Given the description of an element on the screen output the (x, y) to click on. 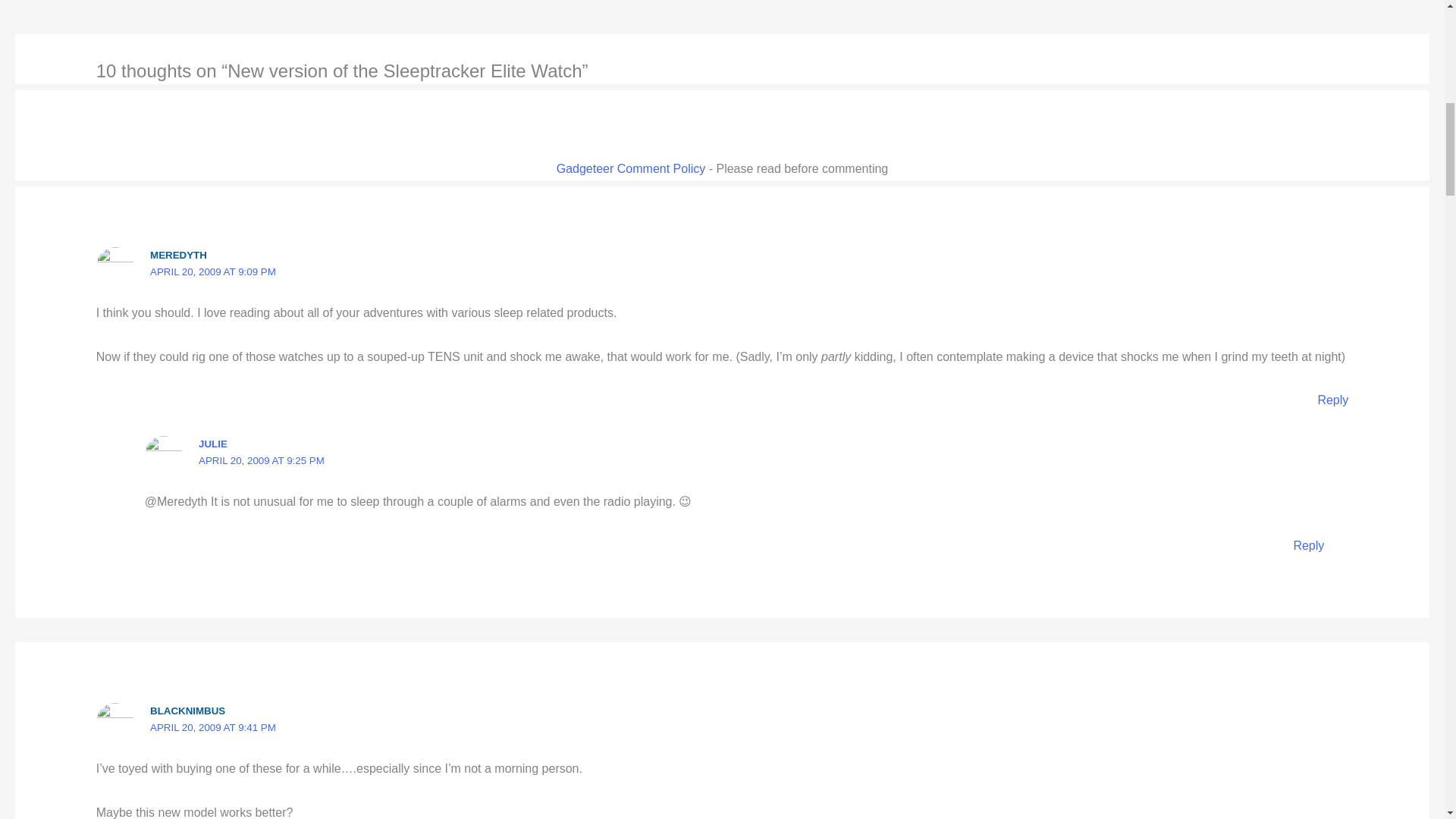
Skooba Design Checkthrough Messenger Bag Review (1393, 4)
Ecofriendly Reusable Swiffer Mop Pads (61, 4)
